Given the description of an element on the screen output the (x, y) to click on. 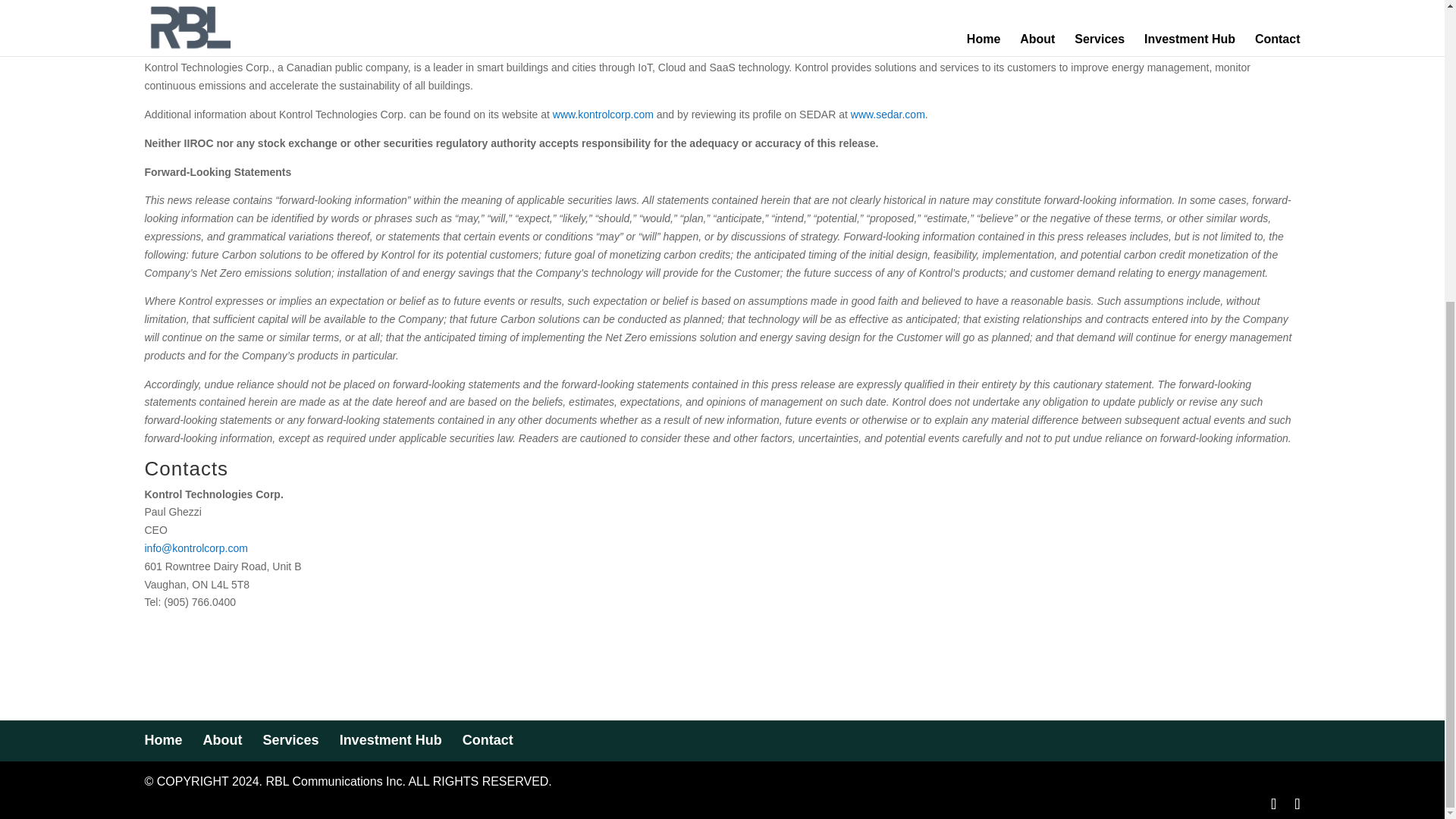
Investment Hub (390, 728)
Services (290, 728)
Contact (488, 728)
www.kontrolcorp.com (603, 102)
www.sedar.com (887, 102)
About (223, 728)
Home (163, 728)
